Given the description of an element on the screen output the (x, y) to click on. 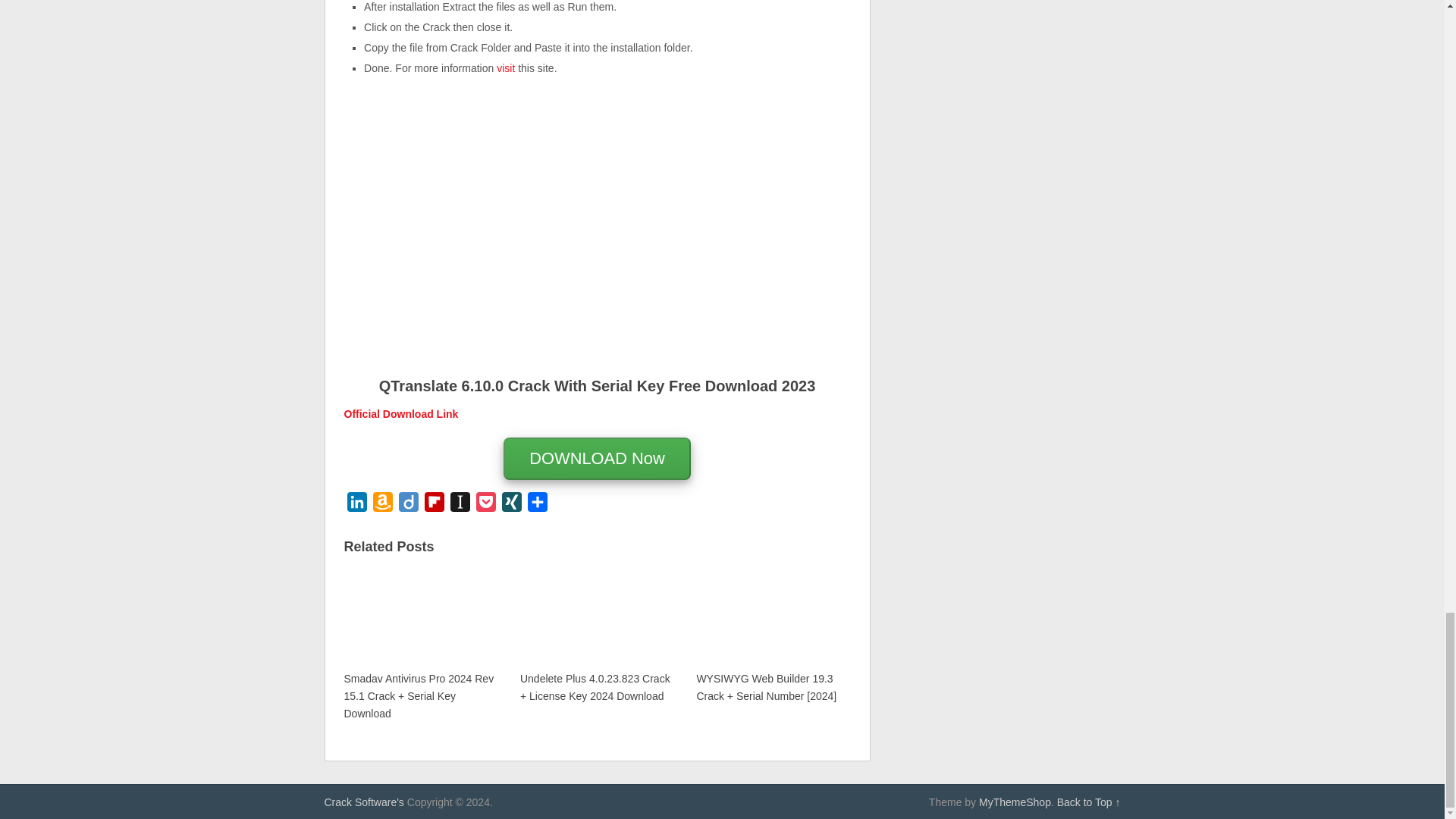
LinkedIn (356, 504)
MyThemeShop (1014, 802)
Flipboard (434, 504)
DOWNLOAD Now (596, 458)
Official Download Link (400, 413)
Amazon Wish List (382, 504)
XING (511, 504)
Crack Software's (364, 802)
LinkedIn (356, 504)
Flipboard (434, 504)
